Given the description of an element on the screen output the (x, y) to click on. 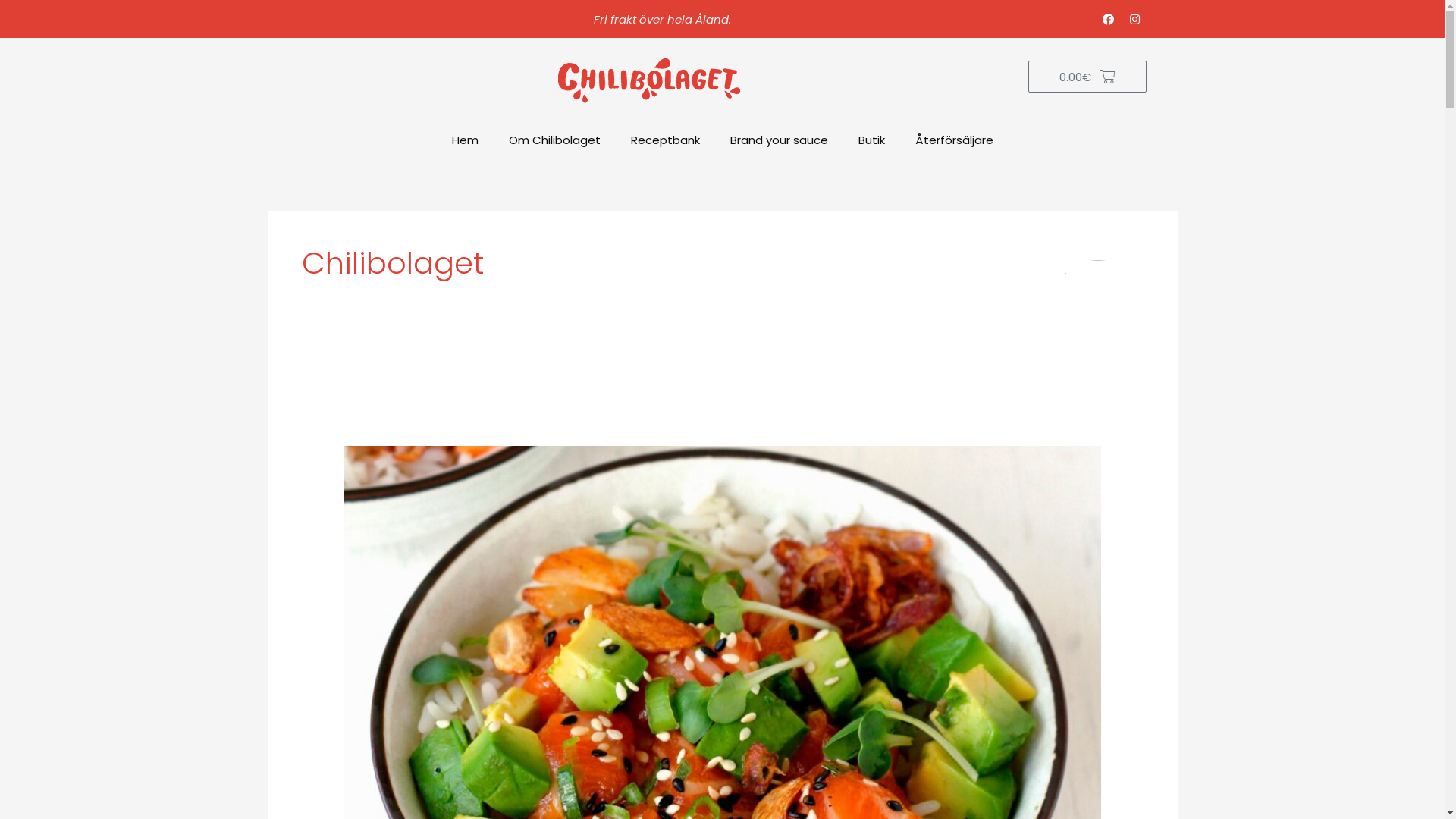
Om Chilibolaget Element type: text (553, 139)
Hem Element type: text (464, 139)
Butik Element type: text (871, 139)
Instagram Element type: text (1134, 18)
Facebook Element type: text (1107, 18)
Receptbank Element type: text (665, 139)
Brand your sauce Element type: text (778, 139)
